Given the description of an element on the screen output the (x, y) to click on. 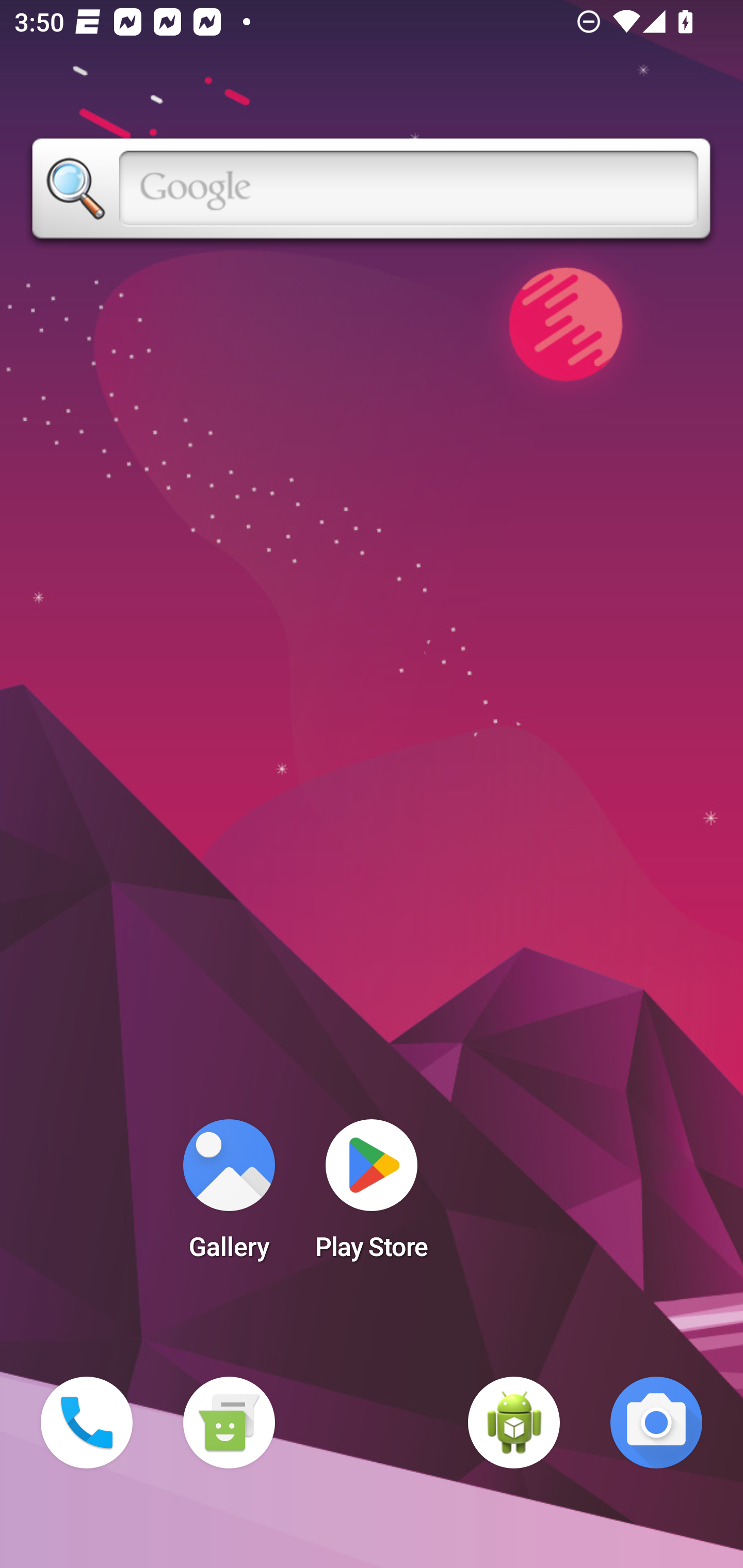
Gallery (228, 1195)
Play Store (371, 1195)
Phone (86, 1422)
Messaging (228, 1422)
WebView Browser Tester (513, 1422)
Camera (656, 1422)
